Given the description of an element on the screen output the (x, y) to click on. 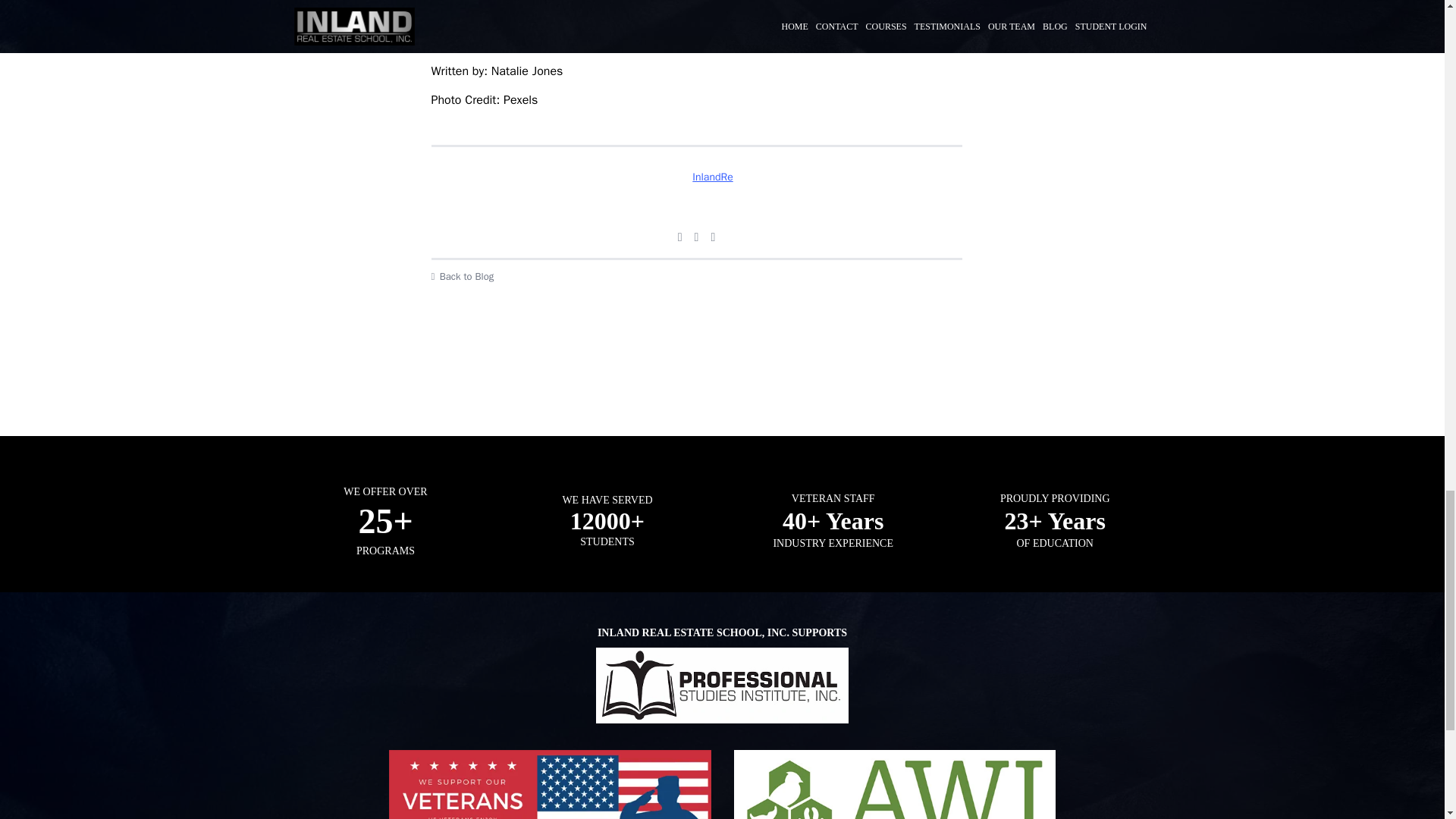
Back to Blog (695, 276)
InlandRe (695, 176)
